Given the description of an element on the screen output the (x, y) to click on. 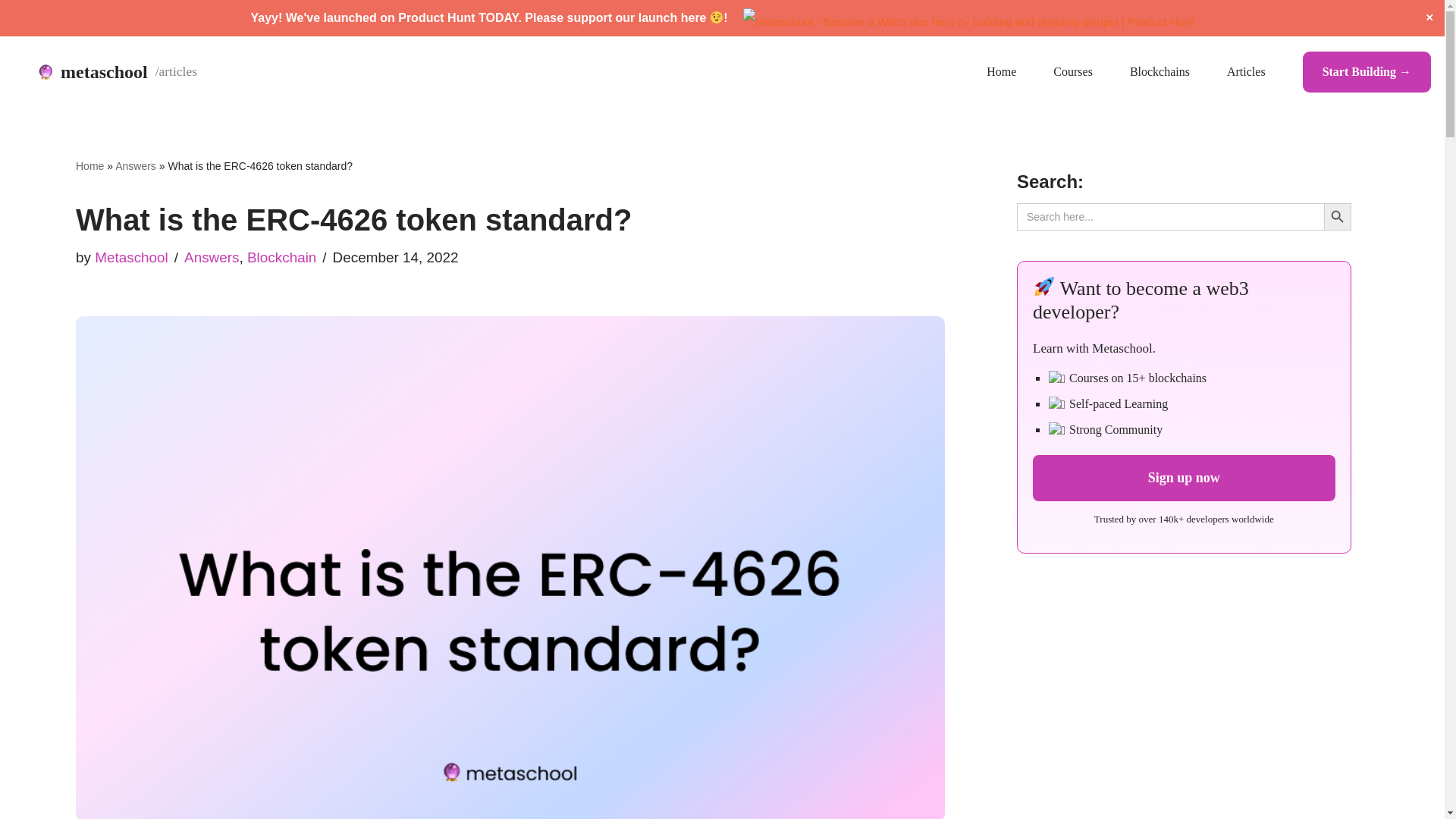
Courses (1072, 71)
metaschool (116, 71)
Answers (211, 256)
Blockchain (281, 256)
Posts by Metaschool (131, 256)
Metaschool (131, 256)
Home (993, 71)
Skip to content (11, 68)
Blockchains (1159, 71)
Home (89, 165)
Articles (1246, 71)
Answers (135, 165)
